Given the description of an element on the screen output the (x, y) to click on. 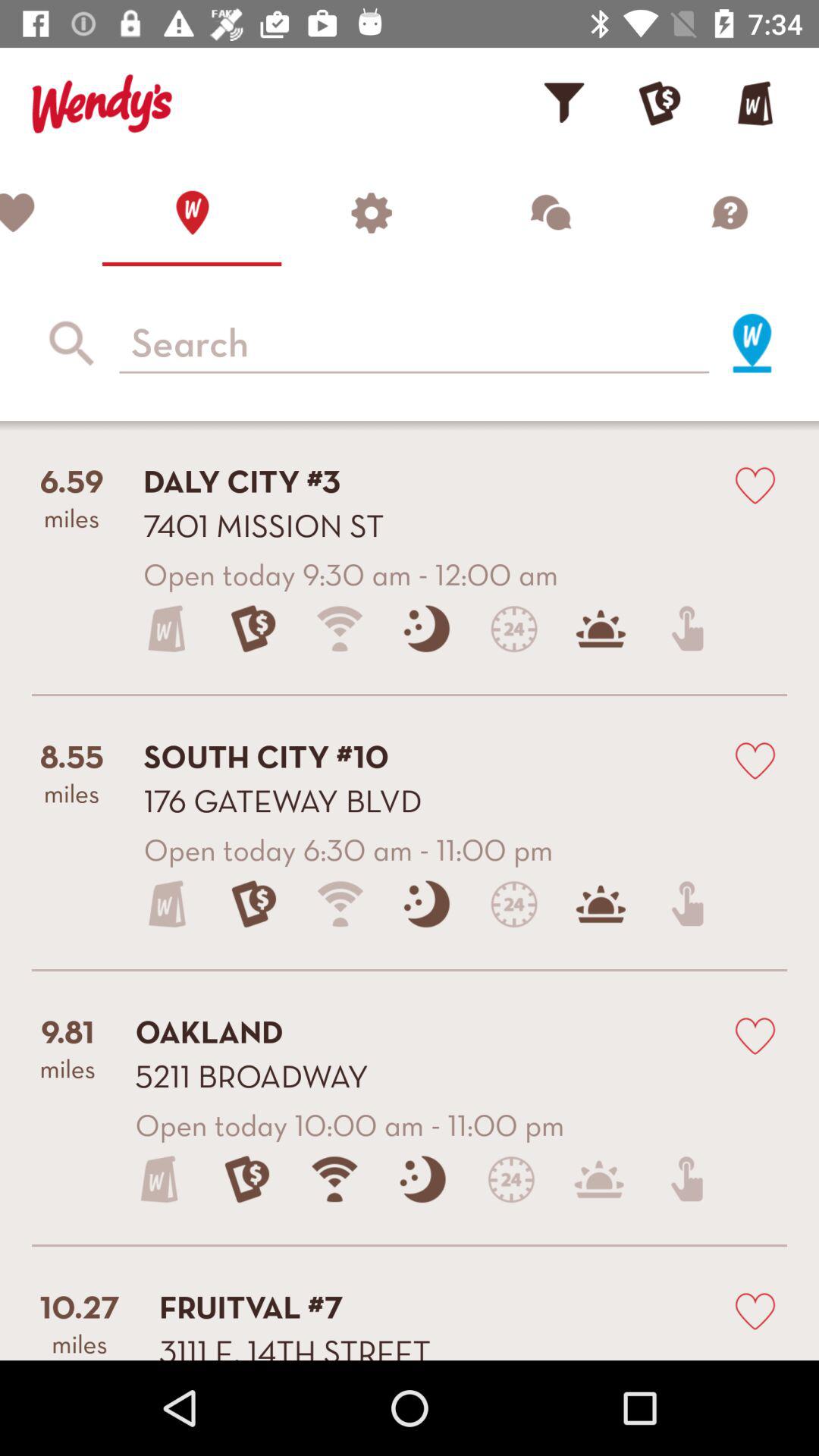
favorite oakland (755, 1035)
